Given the description of an element on the screen output the (x, y) to click on. 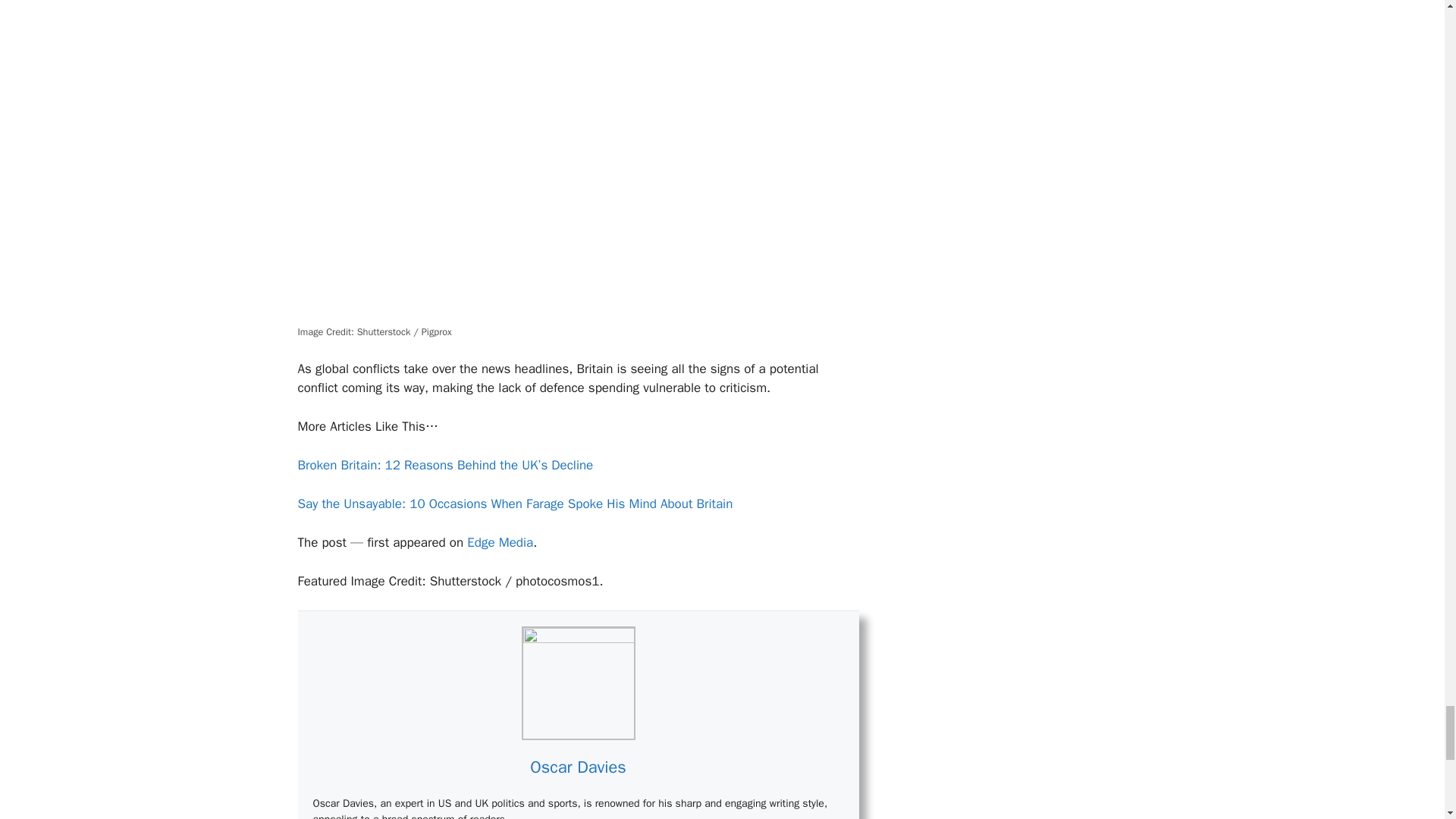
Oscar Davies (577, 767)
Edge Media (499, 542)
